Given the description of an element on the screen output the (x, y) to click on. 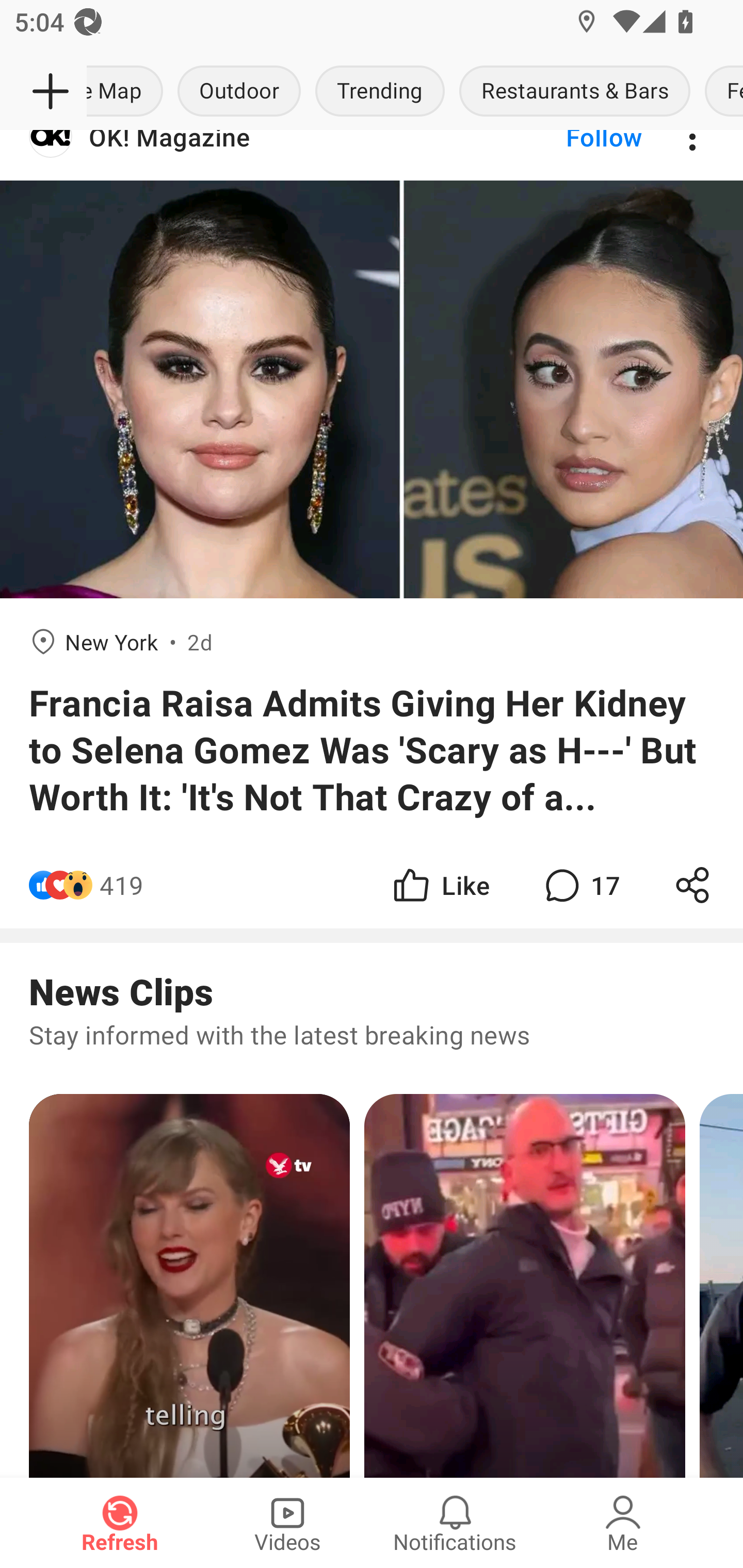
Outdoor (239, 91)
Trending (379, 91)
Restaurants & Bars (574, 91)
419 (121, 885)
Like (439, 885)
17 (579, 885)
Videos (287, 1522)
Notifications (455, 1522)
Me (622, 1522)
